Given the description of an element on the screen output the (x, y) to click on. 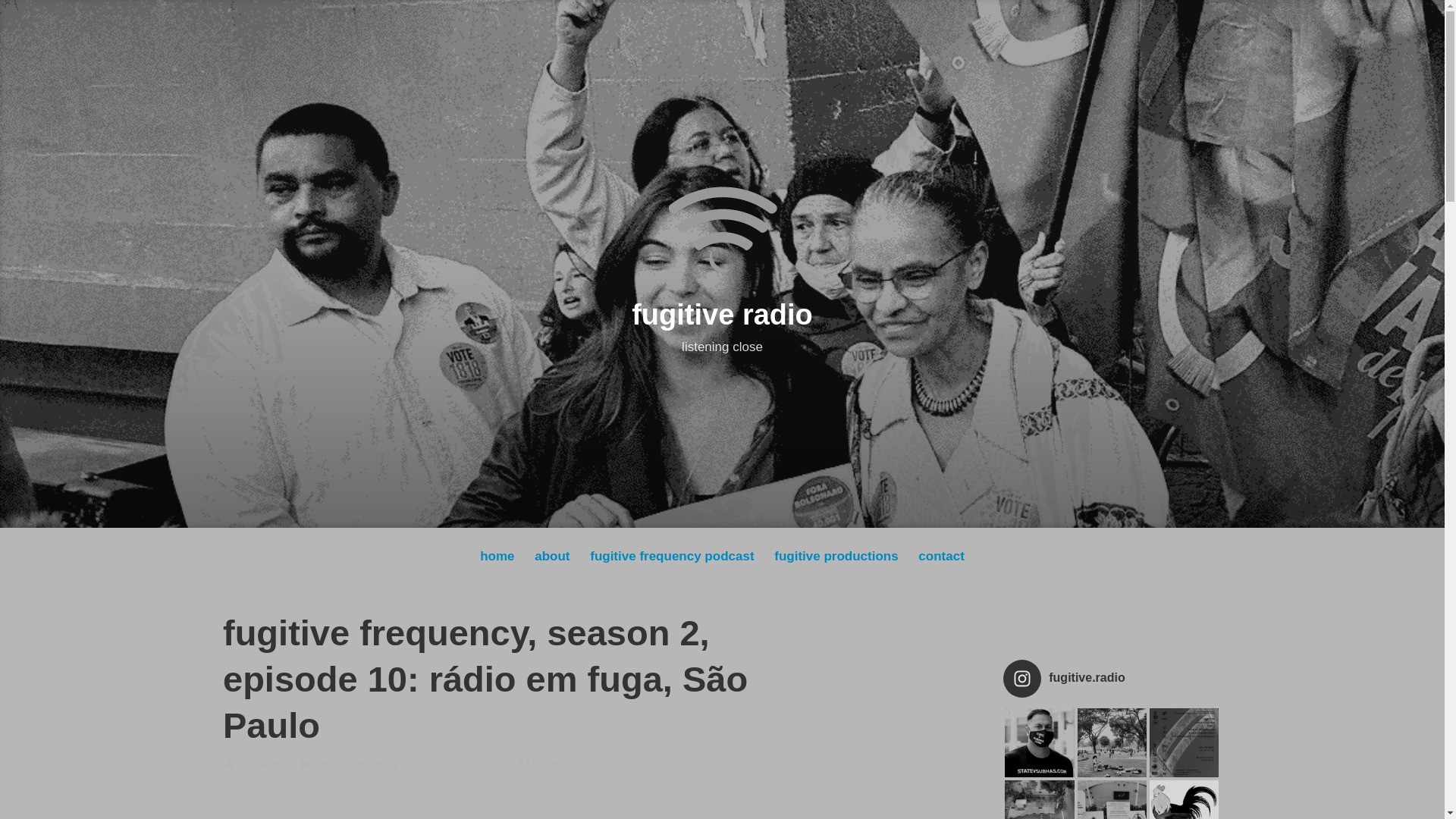
fugitive frequency (356, 763)
fugitive frequency podcast (672, 556)
about (552, 556)
Sumugan (260, 763)
home (496, 556)
contact (941, 556)
Posts by Sumugan (260, 763)
fugitive productions (836, 556)
fugitive radio (721, 314)
fugitive.radio (1113, 678)
